Given the description of an element on the screen output the (x, y) to click on. 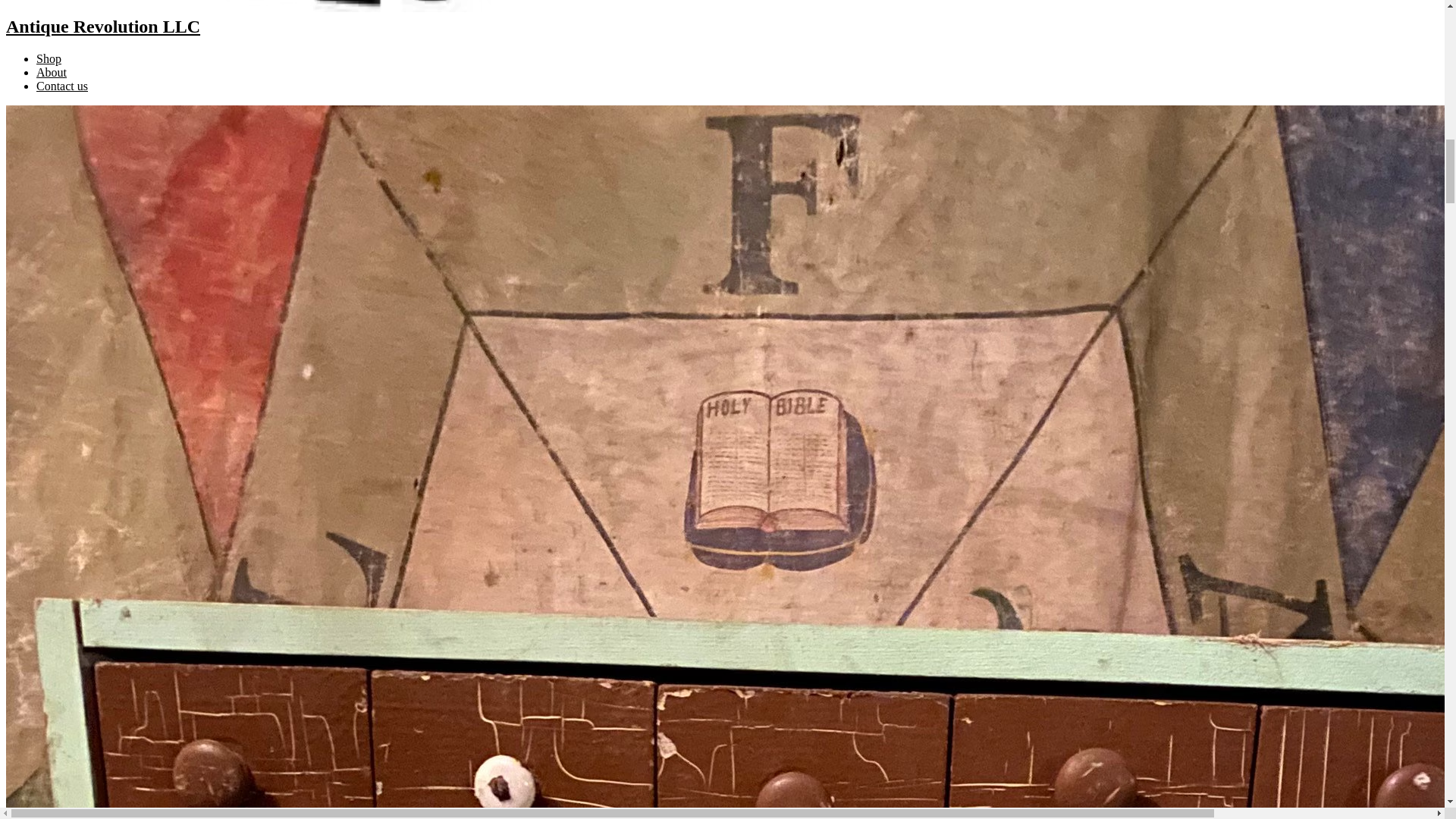
Contact us (61, 85)
Antique Revolution LLC (721, 18)
Shop (48, 58)
About (51, 72)
